Given the description of an element on the screen output the (x, y) to click on. 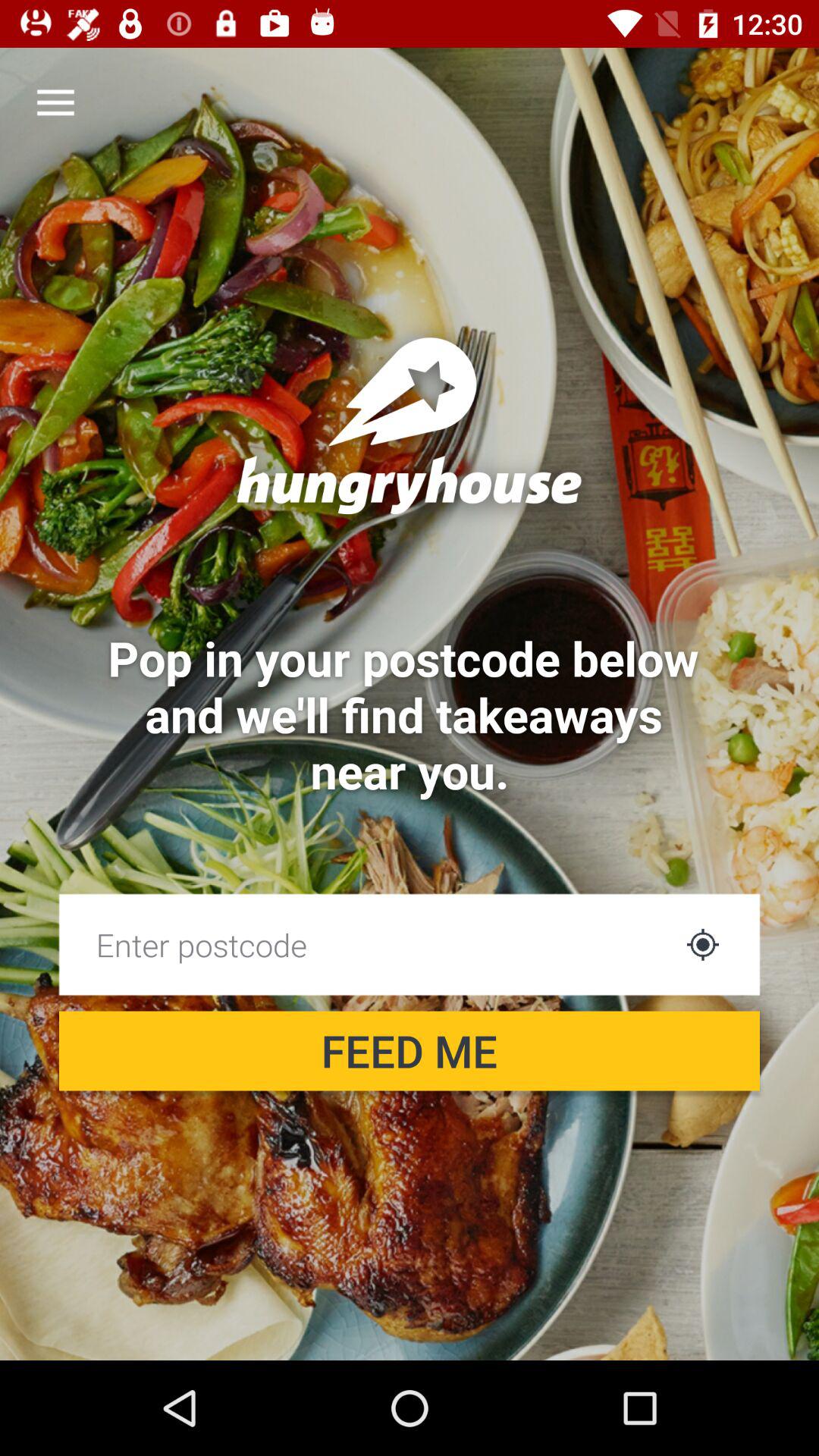
tap item on the right (702, 944)
